Given the description of an element on the screen output the (x, y) to click on. 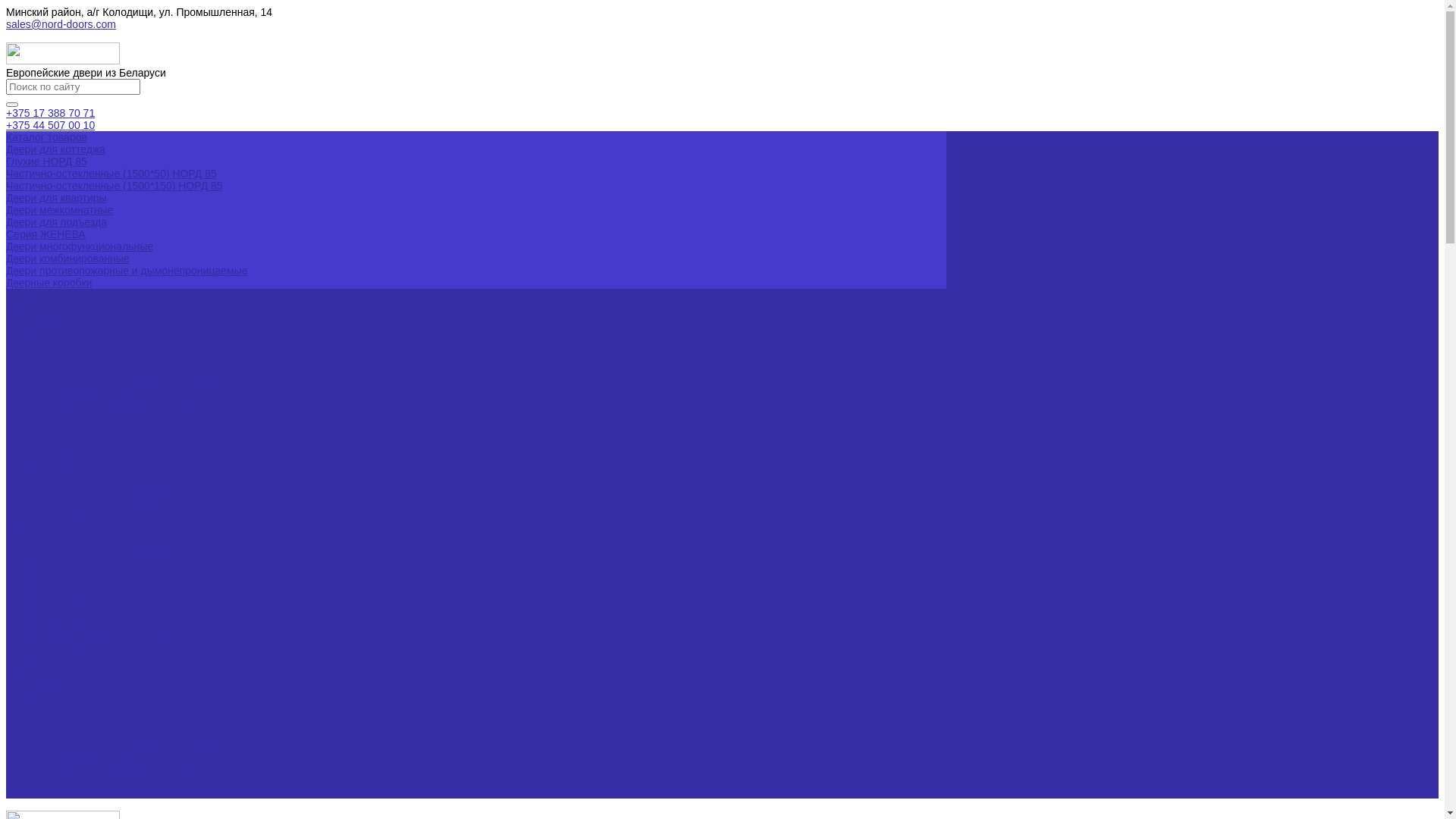
sales@nord-doors.com Element type: text (61, 24)
+375 44 507 00 10 Element type: text (50, 125)
... Element type: text (476, 440)
+375 17 388 70 71 Element type: text (50, 112)
